Given the description of an element on the screen output the (x, y) to click on. 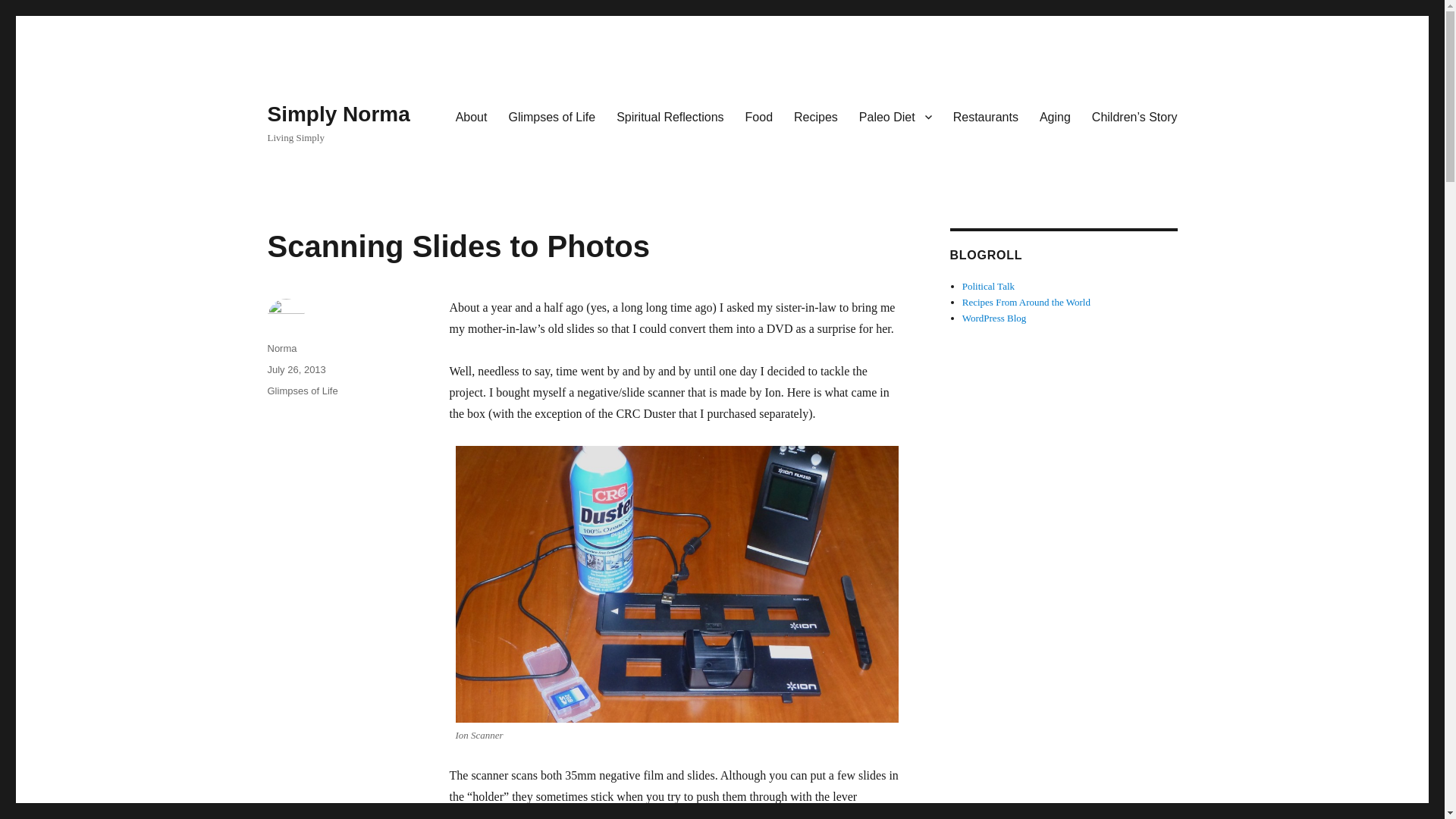
Norma (281, 348)
Food (759, 116)
Recipes (815, 116)
Spiritual Reflections (669, 116)
Glimpses of Life (301, 390)
WordPress Blog (994, 317)
Simply Norma (337, 114)
July 26, 2013 (295, 369)
Aging (1055, 116)
About (471, 116)
Glimpses of Life (551, 116)
Restaurants (985, 116)
Political Talk (988, 285)
Recipes From Around the World (1026, 301)
Paleo Diet (895, 116)
